Given the description of an element on the screen output the (x, y) to click on. 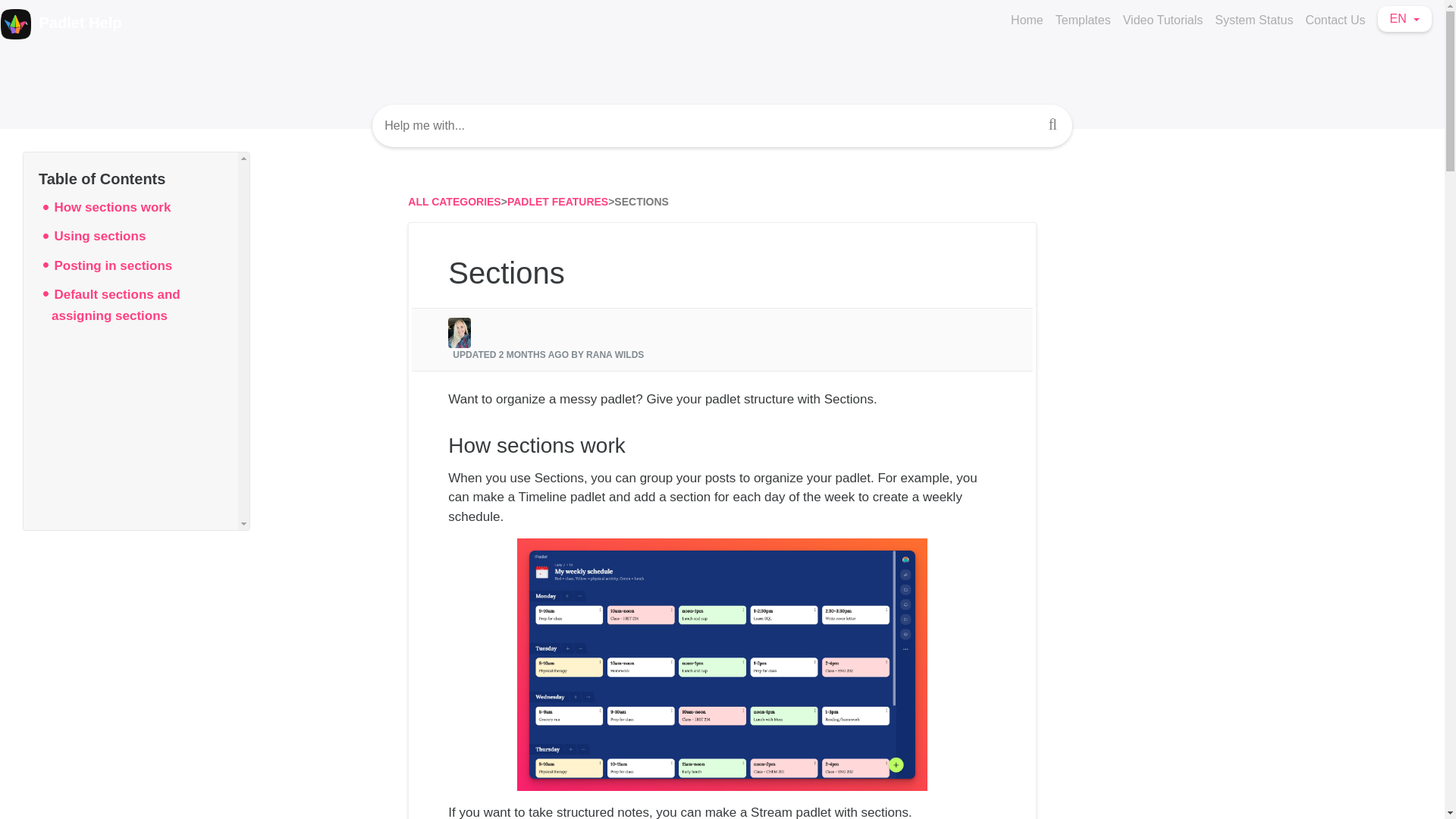
Home (1026, 20)
System Status (1253, 20)
Padlet Help (60, 23)
Video Tutorials (1163, 20)
PADLET FEATURES (557, 201)
Contact Us (1334, 20)
EN (1404, 18)
Templates (1082, 20)
How sections work (111, 206)
ALL CATEGORIES (453, 201)
